Given the description of an element on the screen output the (x, y) to click on. 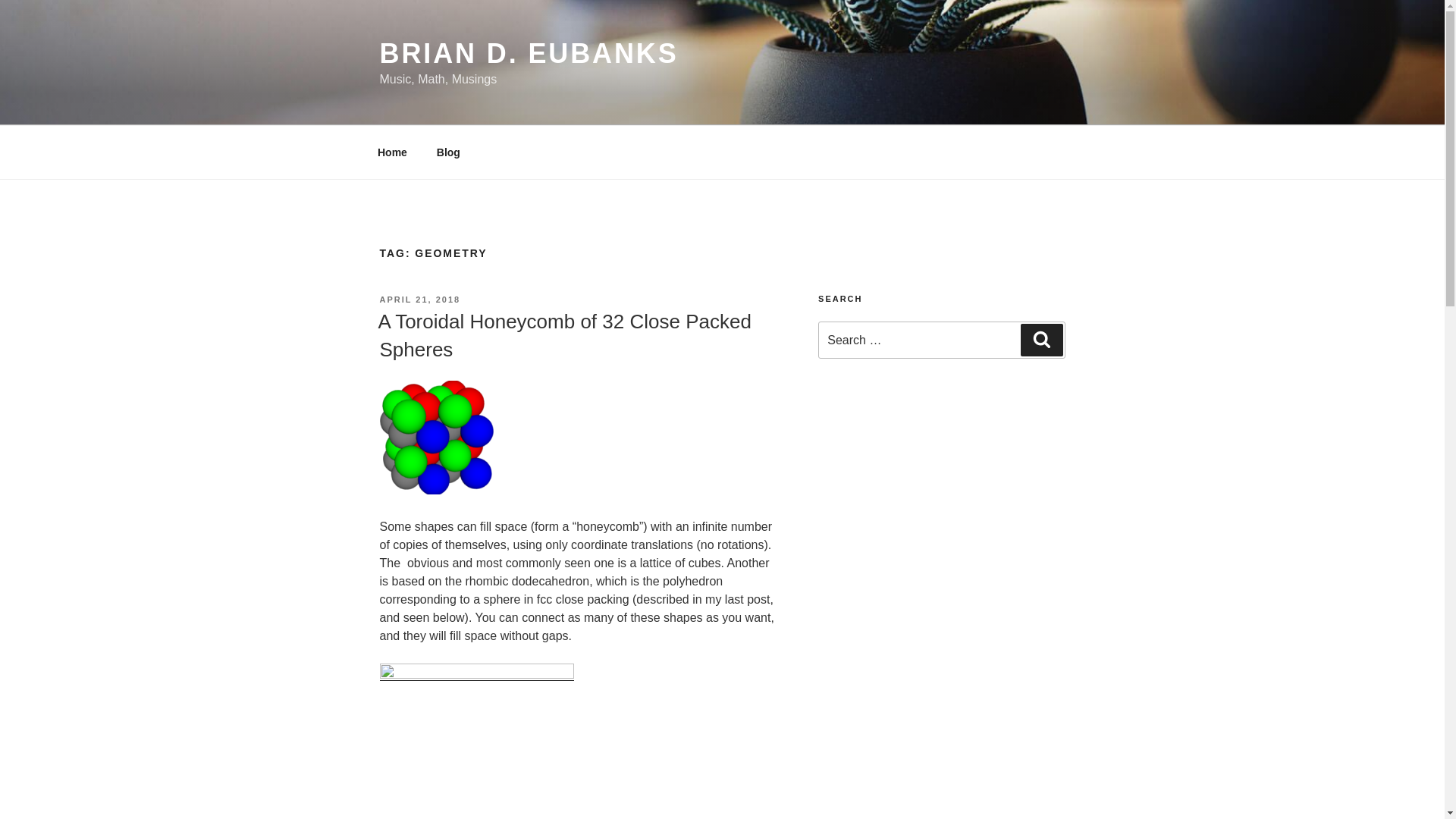
Blog (448, 151)
Home (392, 151)
BRIAN D. EUBANKS (528, 52)
A Toroidal Honeycomb of 32 Close Packed Spheres (564, 335)
Search (1041, 339)
APRIL 21, 2018 (419, 298)
